Given the description of an element on the screen output the (x, y) to click on. 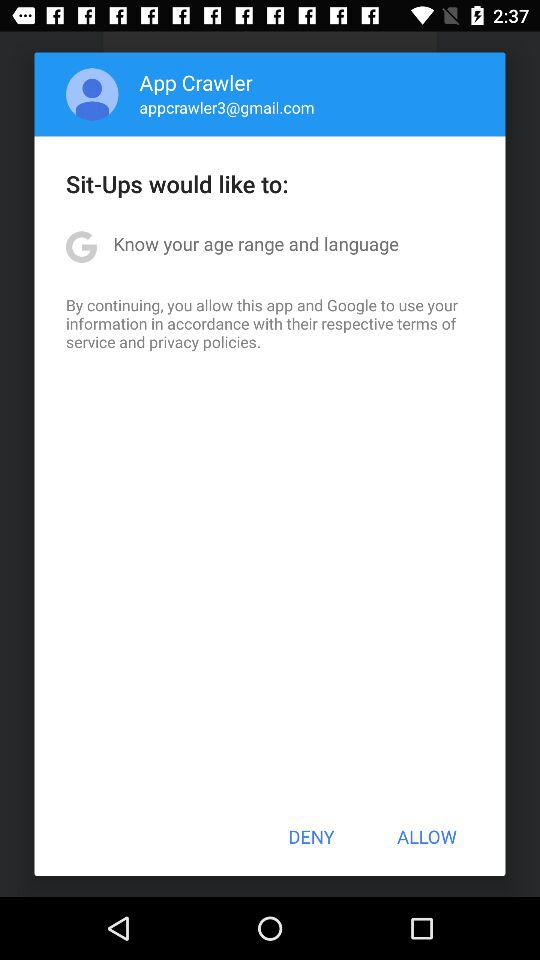
turn off the item below by continuing you item (311, 836)
